Given the description of an element on the screen output the (x, y) to click on. 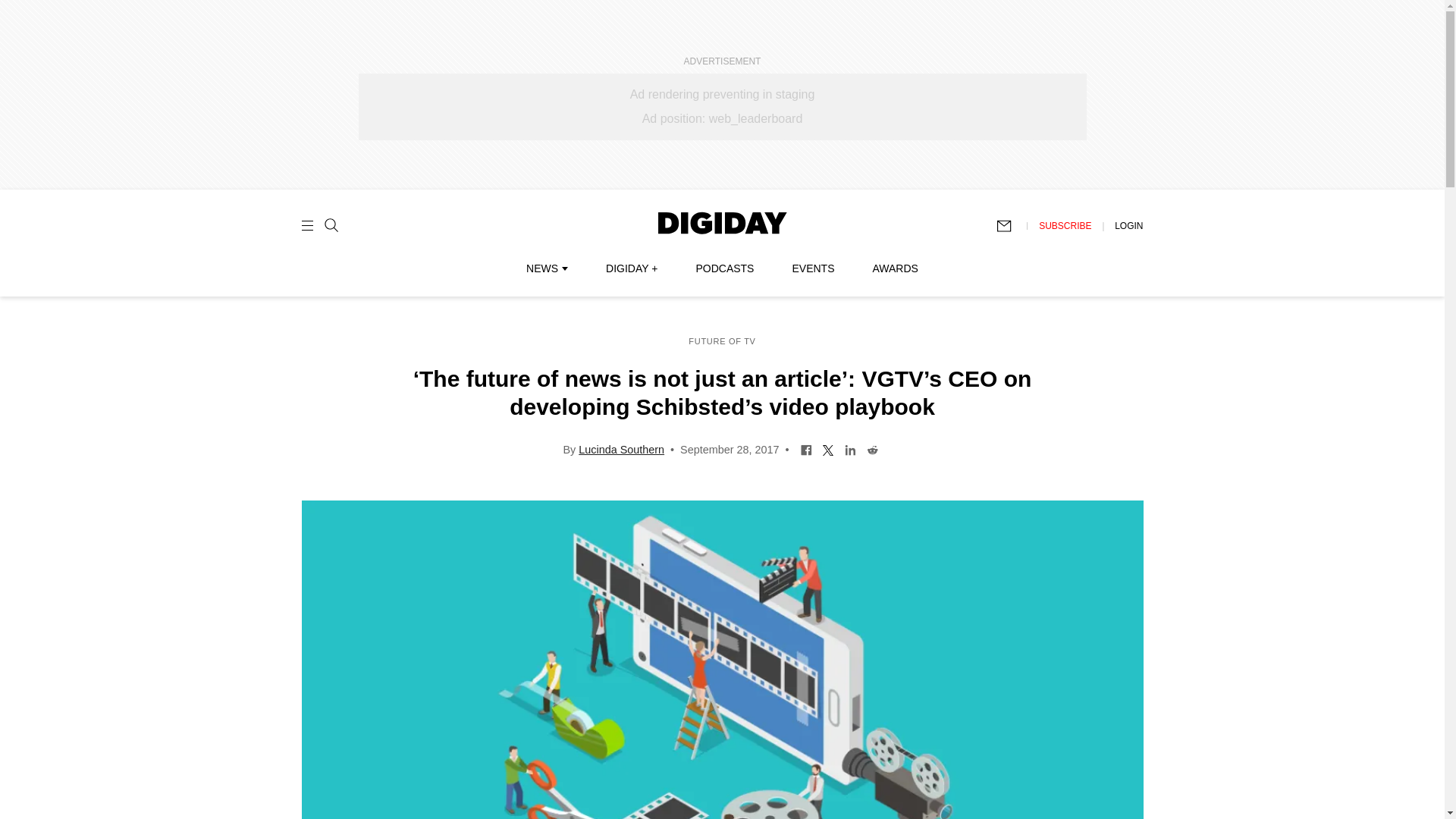
PODCASTS (725, 267)
NEWS (546, 267)
Share on LinkedIn (850, 449)
Share on Facebook (805, 449)
AWARDS (894, 267)
Share on Twitter (828, 449)
LOGIN (1128, 225)
SUBSCRIBE (1064, 225)
EVENTS (813, 267)
Subscribe (1010, 225)
Share on Reddit (872, 449)
